Given the description of an element on the screen output the (x, y) to click on. 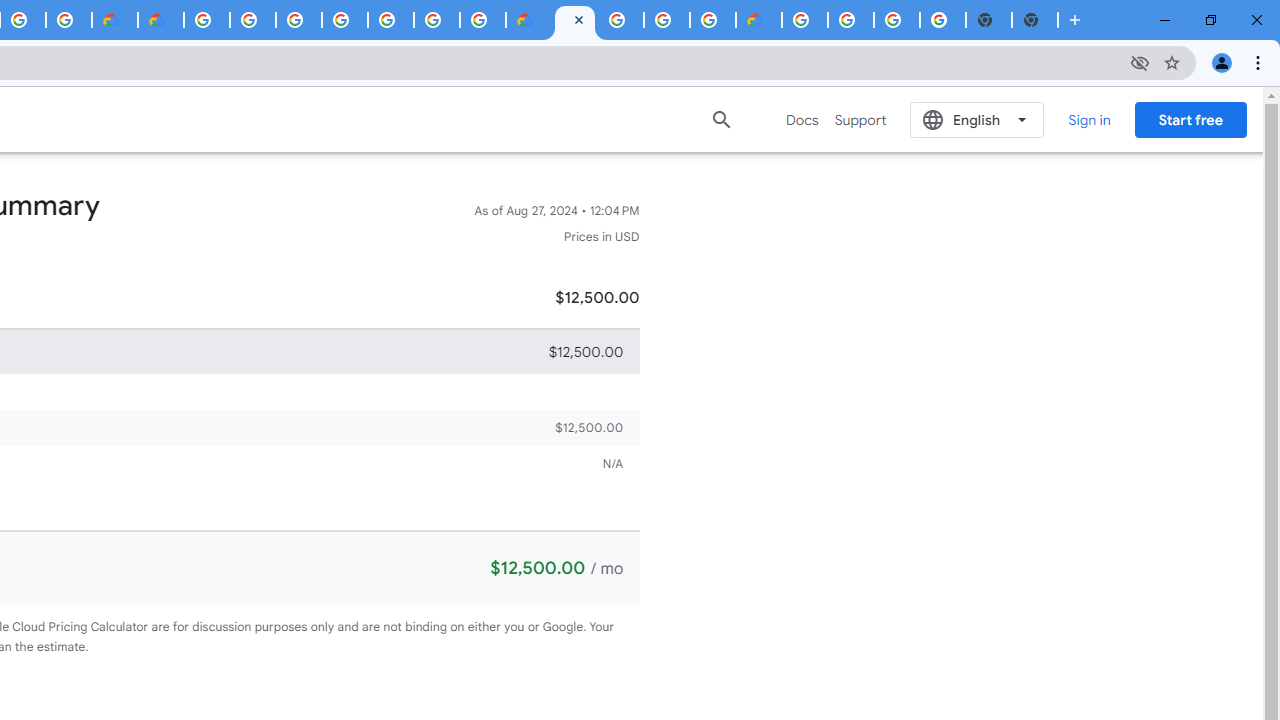
Docs (802, 119)
Google Cloud Platform (207, 20)
Google Cloud Platform (805, 20)
Browse Chrome as a guest - Computer - Google Chrome Help (666, 20)
Start free (1190, 119)
